Given the description of an element on the screen output the (x, y) to click on. 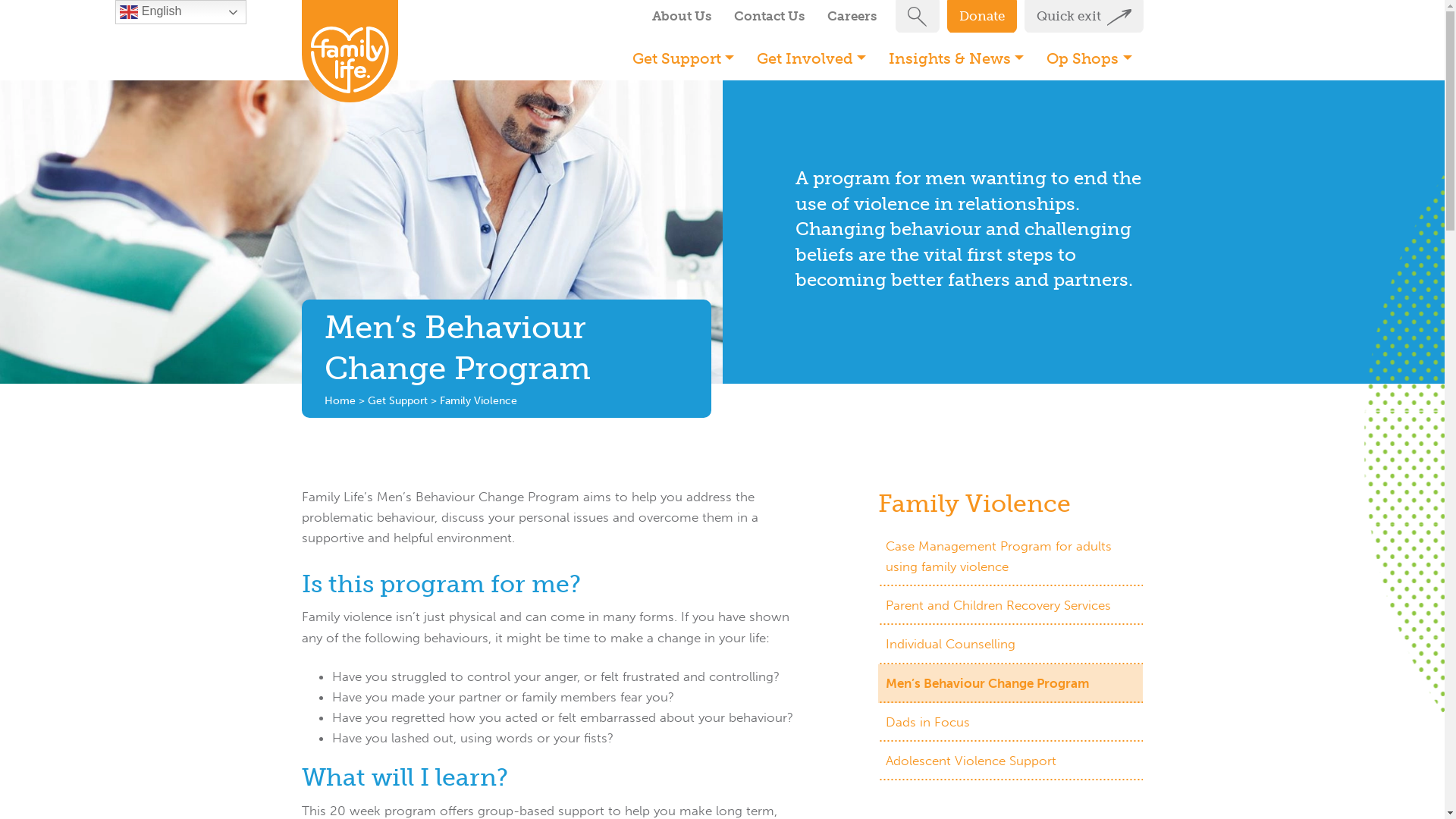
Get Support Element type: text (683, 58)
Contact Us Element type: text (768, 16)
Donate Element type: text (981, 16)
Individual Counselling Element type: text (1010, 643)
Parent and Children Recovery Services Element type: text (1010, 605)
English Element type: text (180, 12)
Get Involved Element type: text (811, 58)
Insights & News Element type: text (956, 58)
Adolescent Violence Support Element type: text (1010, 760)
Dads in Focus Element type: text (1010, 721)
Case Management Program for adults using family violence Element type: text (1010, 556)
About Us Element type: text (680, 16)
Quick exit Element type: text (1082, 16)
Family Violence Element type: text (478, 400)
Careers Element type: text (851, 16)
Family Violence Element type: text (974, 503)
Get Support Element type: text (396, 400)
Op Shops Element type: text (1088, 58)
Home Element type: text (339, 400)
